Given the description of an element on the screen output the (x, y) to click on. 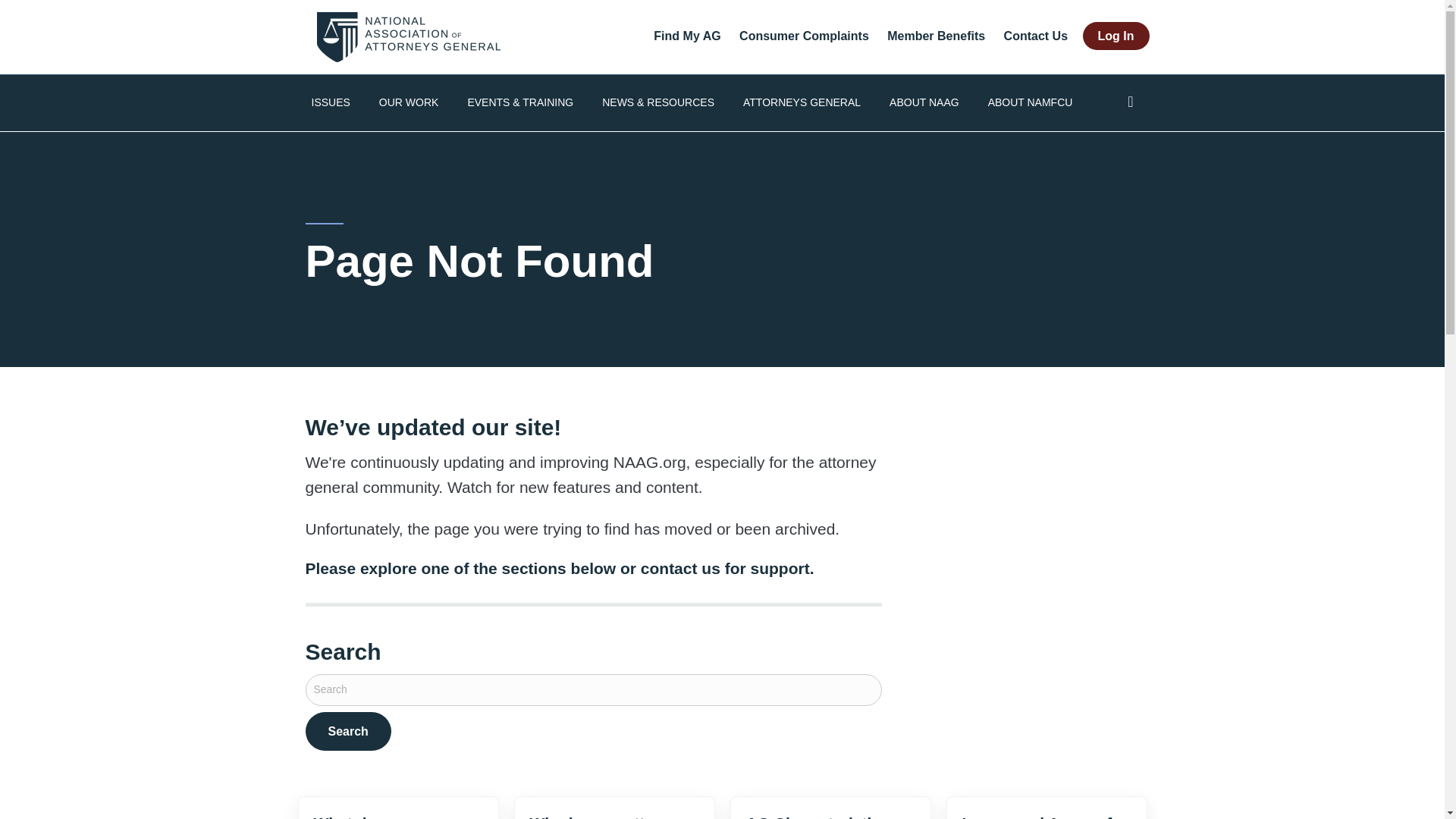
Issues and Areas of Interest (1036, 816)
What does an attorney general do? (392, 816)
Search (347, 731)
AG Characteristics (817, 816)
Who is your attorney general? (608, 816)
Type and press Enter to search. (592, 712)
